Given the description of an element on the screen output the (x, y) to click on. 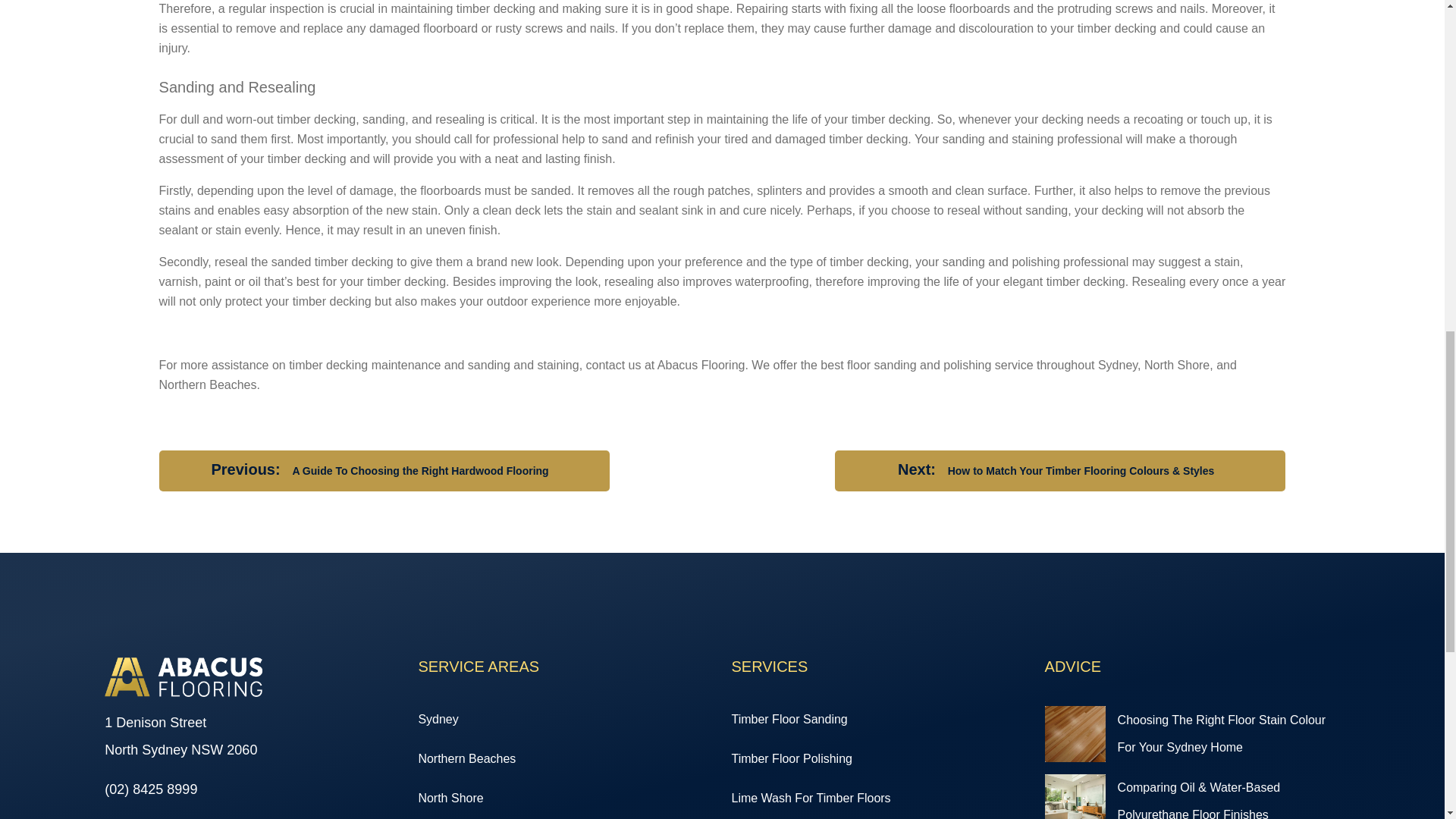
contact us (614, 364)
Previous: A Guide To Choosing the Right Hardwood Flooring (384, 470)
